Given the description of an element on the screen output the (x, y) to click on. 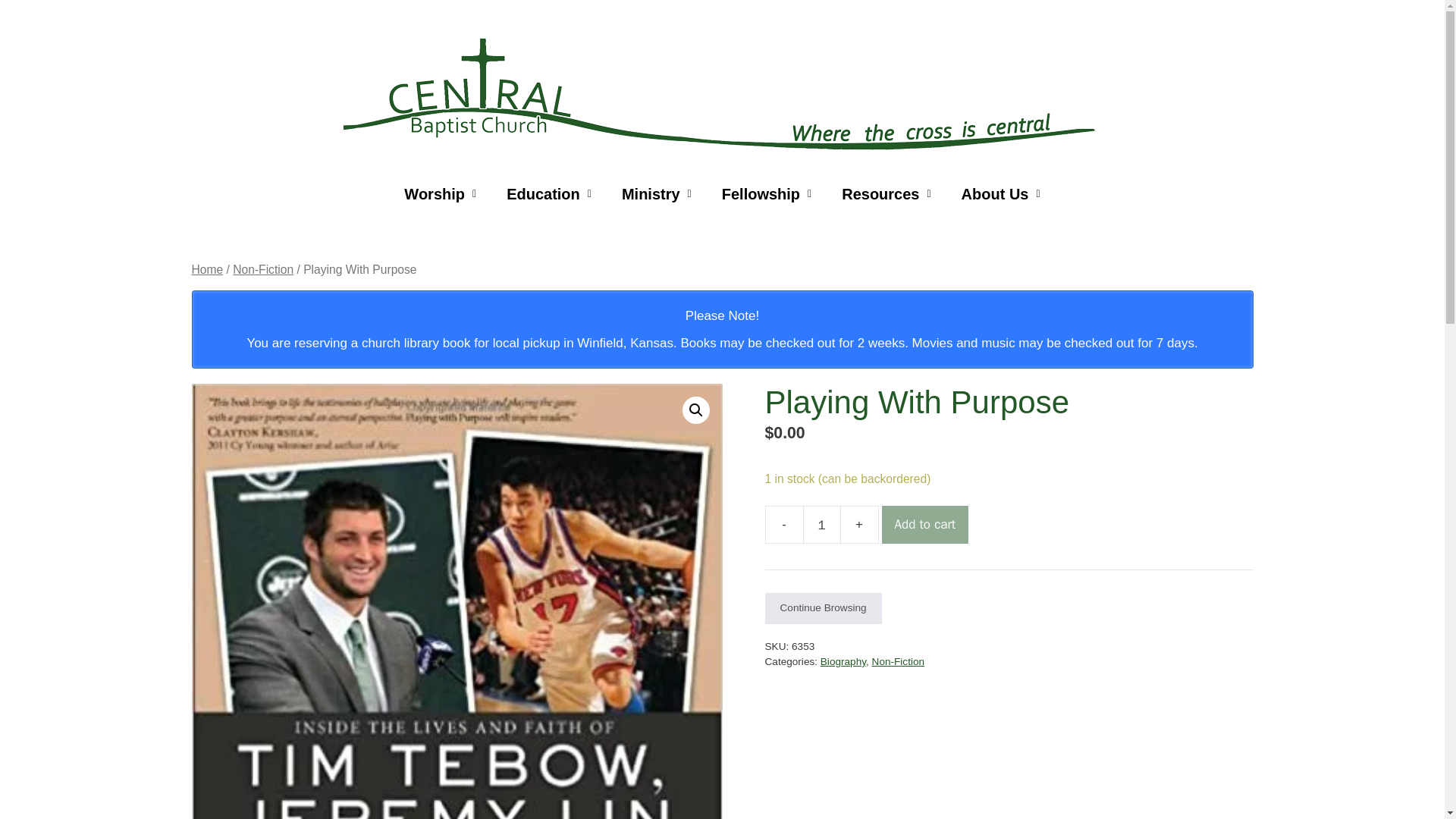
Ministry (656, 193)
Fellowship (766, 193)
Education (549, 193)
About Us (1000, 193)
Resources (885, 193)
Worship (440, 193)
1 (821, 524)
